Given the description of an element on the screen output the (x, y) to click on. 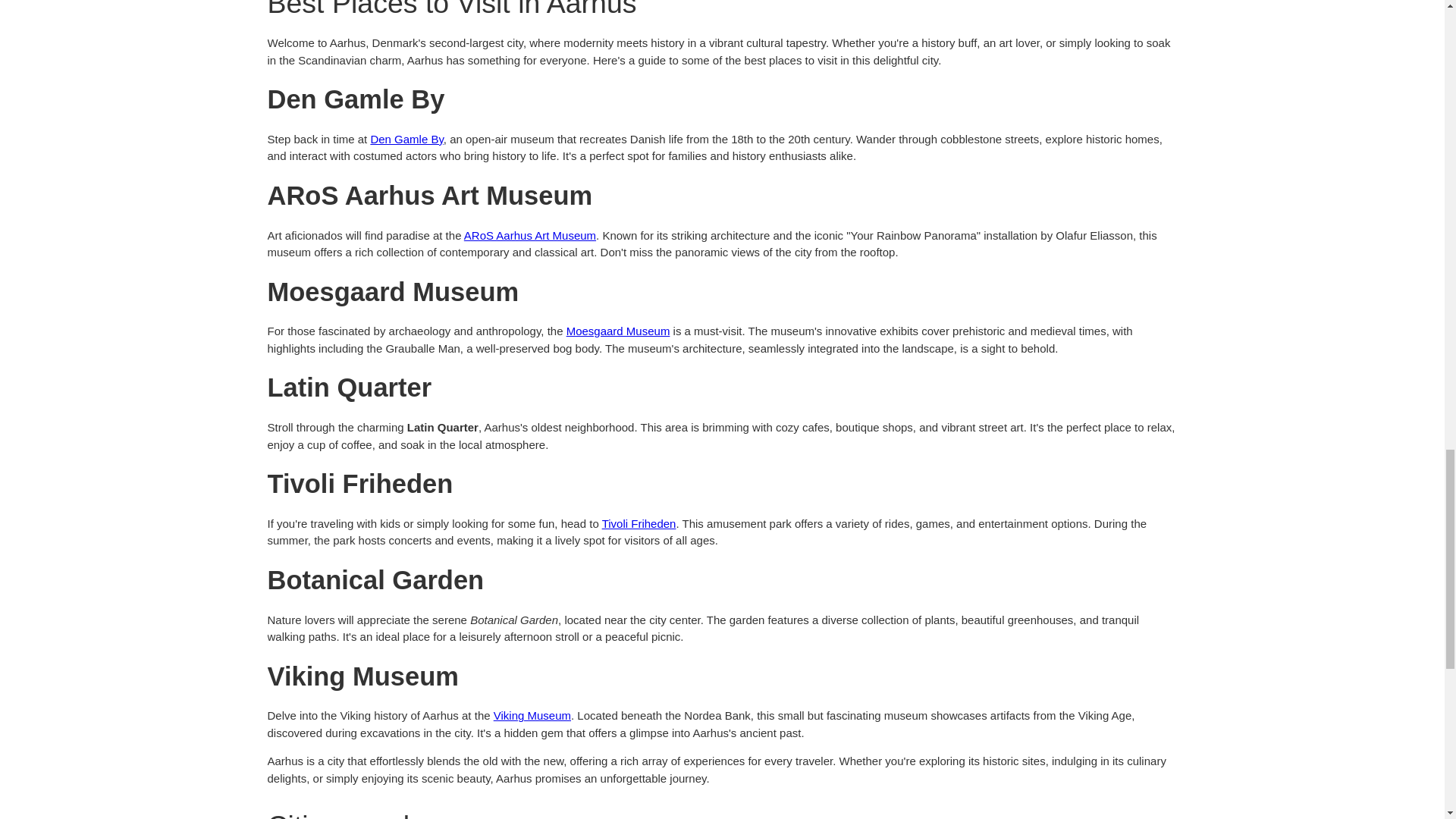
ARoS Aarhus Art Museum (529, 235)
Moesgaard Museum (617, 330)
Den Gamle By (405, 138)
Tivoli Friheden (639, 522)
Viking Museum (531, 715)
